Given the description of an element on the screen output the (x, y) to click on. 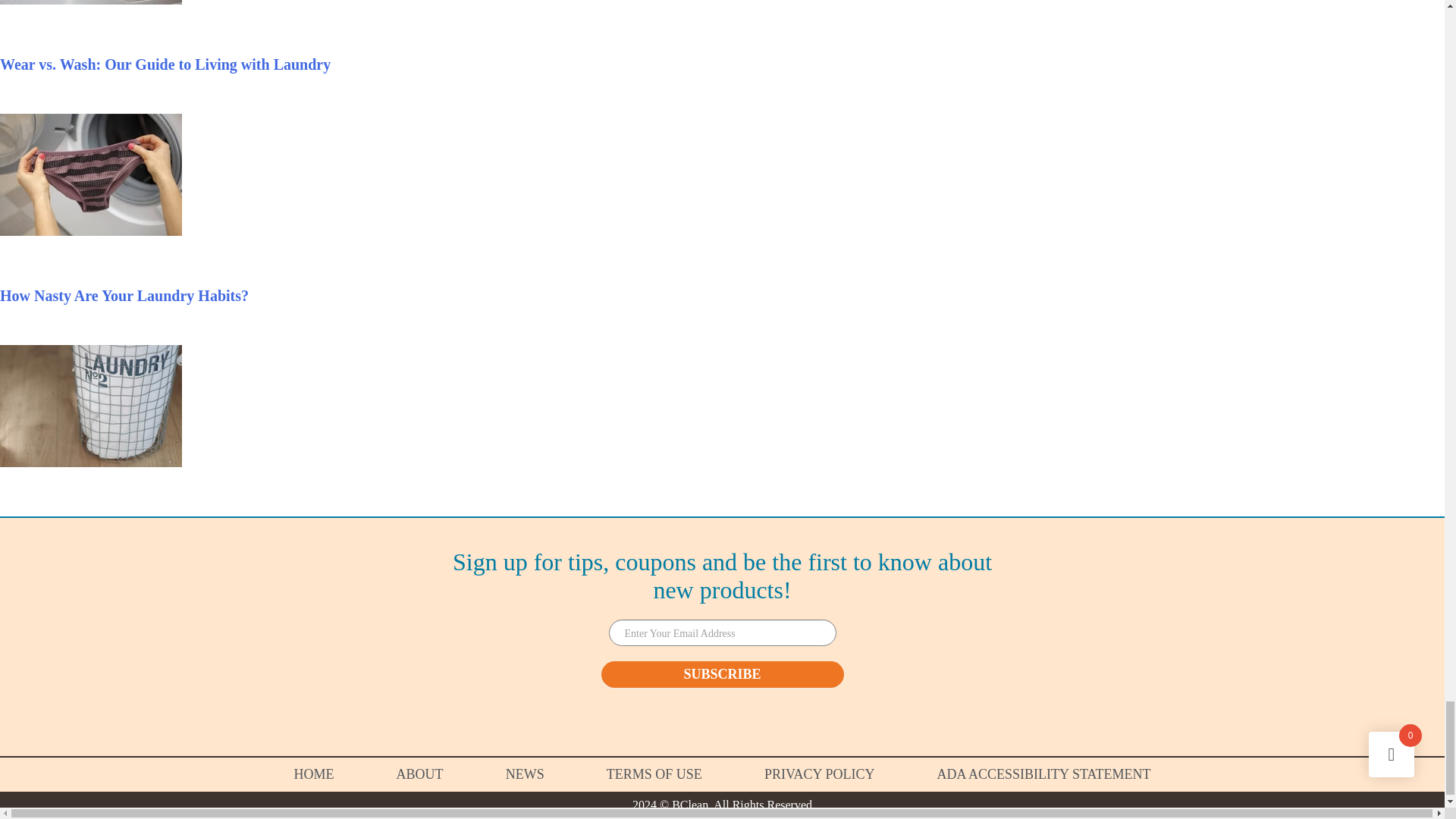
Wear vs. Wash: Our Guide to Living with Laundry (165, 64)
HOME (314, 774)
Wear vs. Wash: Our Guide to Living with Laundry (91, 230)
TERMS OF USE (654, 774)
Choosing the Best Water Temperature for Laundry (91, 3)
PRIVACY POLICY (819, 774)
SUBSCRIBE (721, 673)
Wear vs. Wash: A Guide to Living with Laundry (165, 64)
NEWS (524, 774)
How Nasty Are Your Laundry Habits? (124, 295)
ABOUT (420, 774)
ADA ACCESSIBILITY STATEMENT (1044, 774)
How Nasty Are Your Laundry Habits? (124, 295)
How Nasty Are Your Laundry Habits? (91, 461)
